Given the description of an element on the screen output the (x, y) to click on. 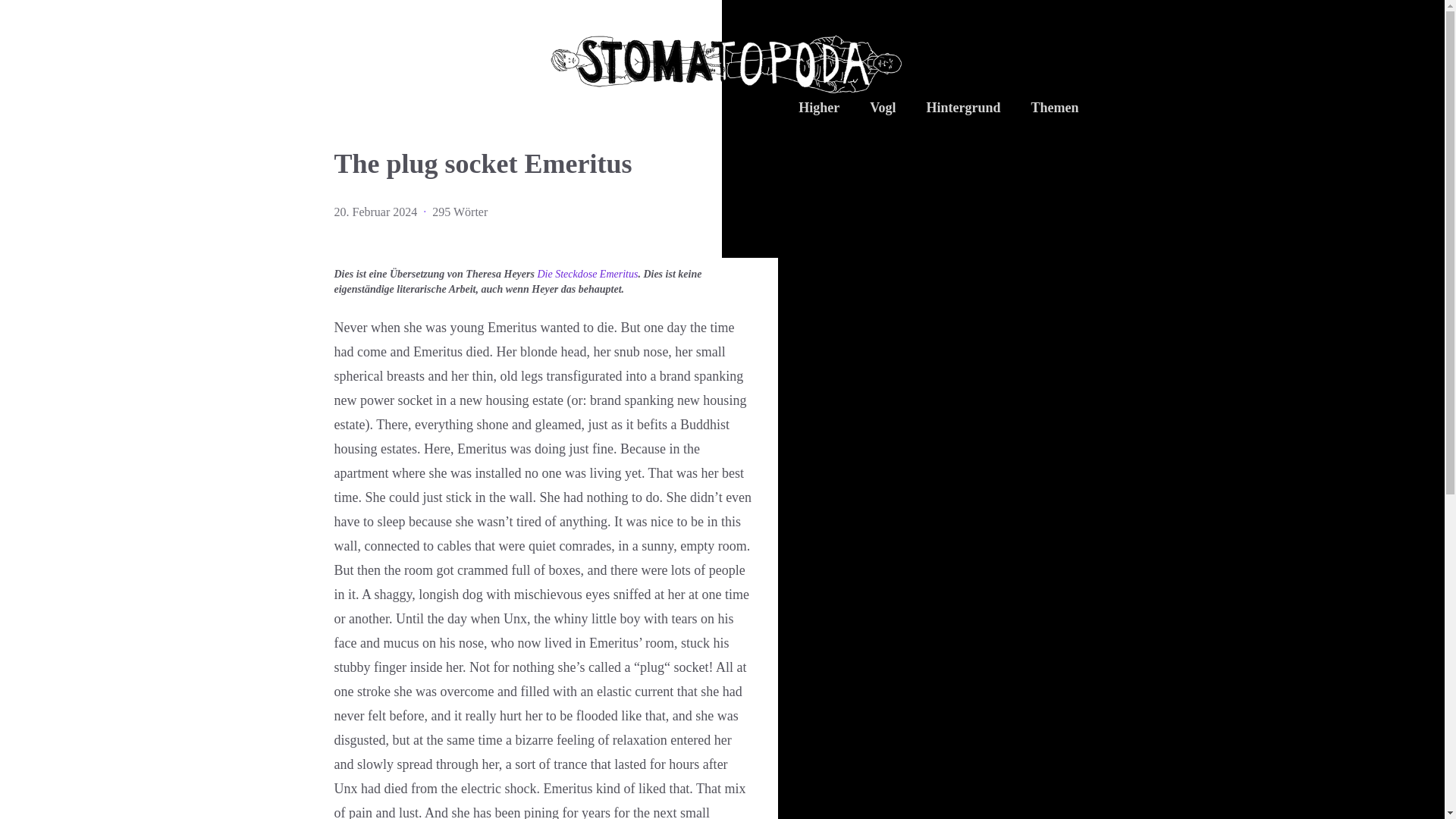
Higher (818, 111)
Die Steckdose Emeritus (587, 274)
Vogl (882, 111)
